Given the description of an element on the screen output the (x, y) to click on. 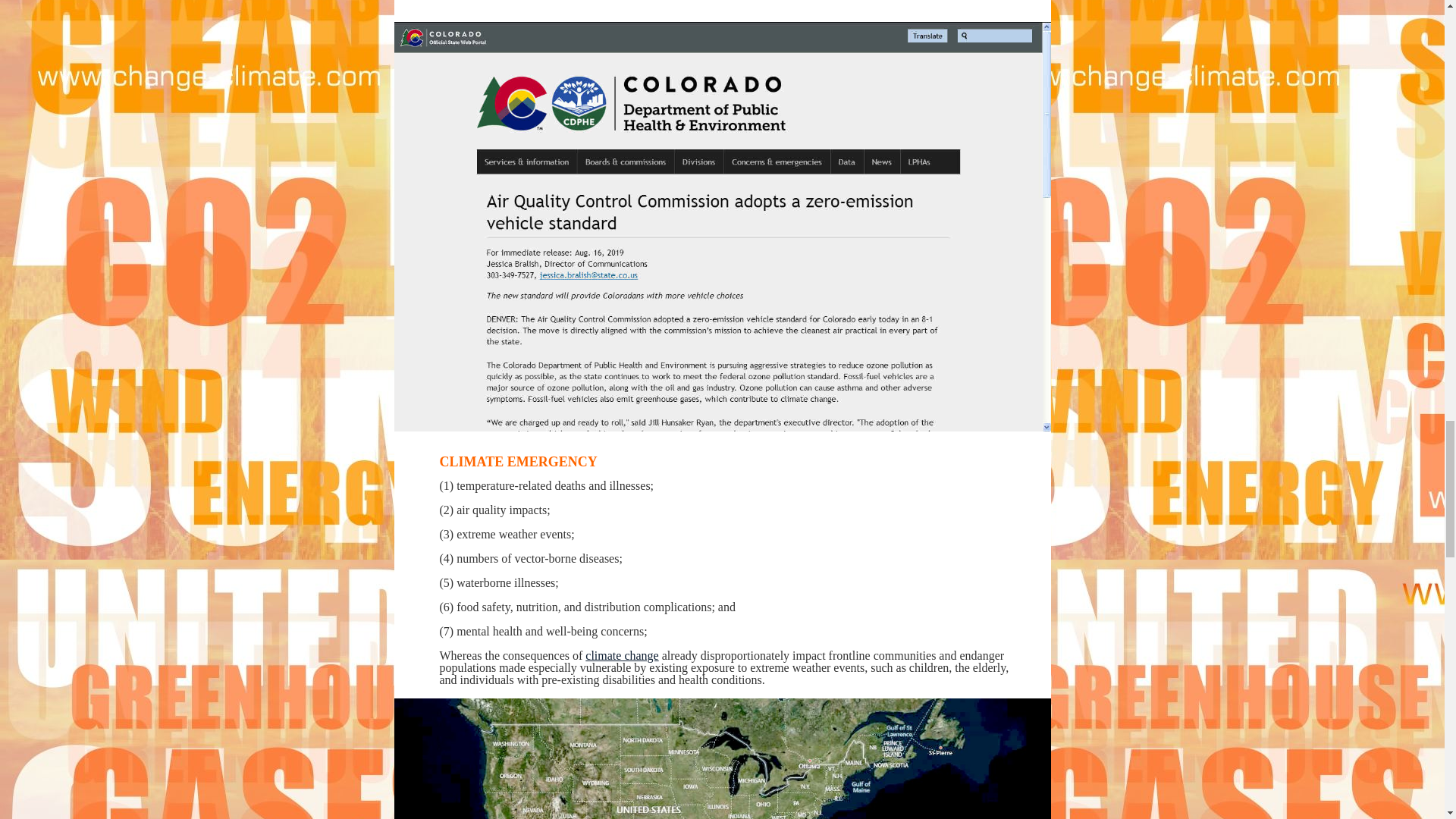
climate change (621, 655)
